Given the description of an element on the screen output the (x, y) to click on. 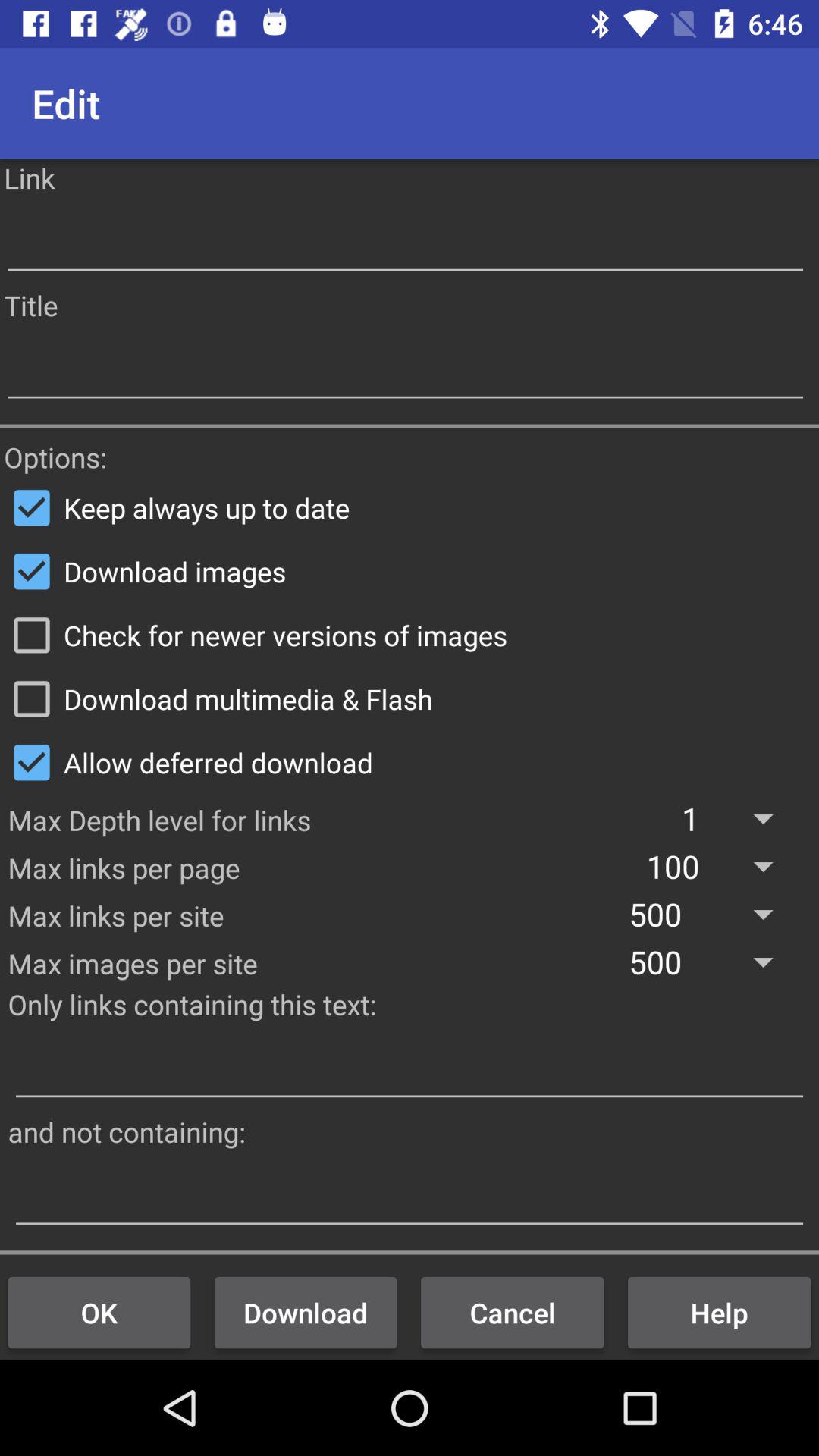
press item above download images item (409, 507)
